Given the description of an element on the screen output the (x, y) to click on. 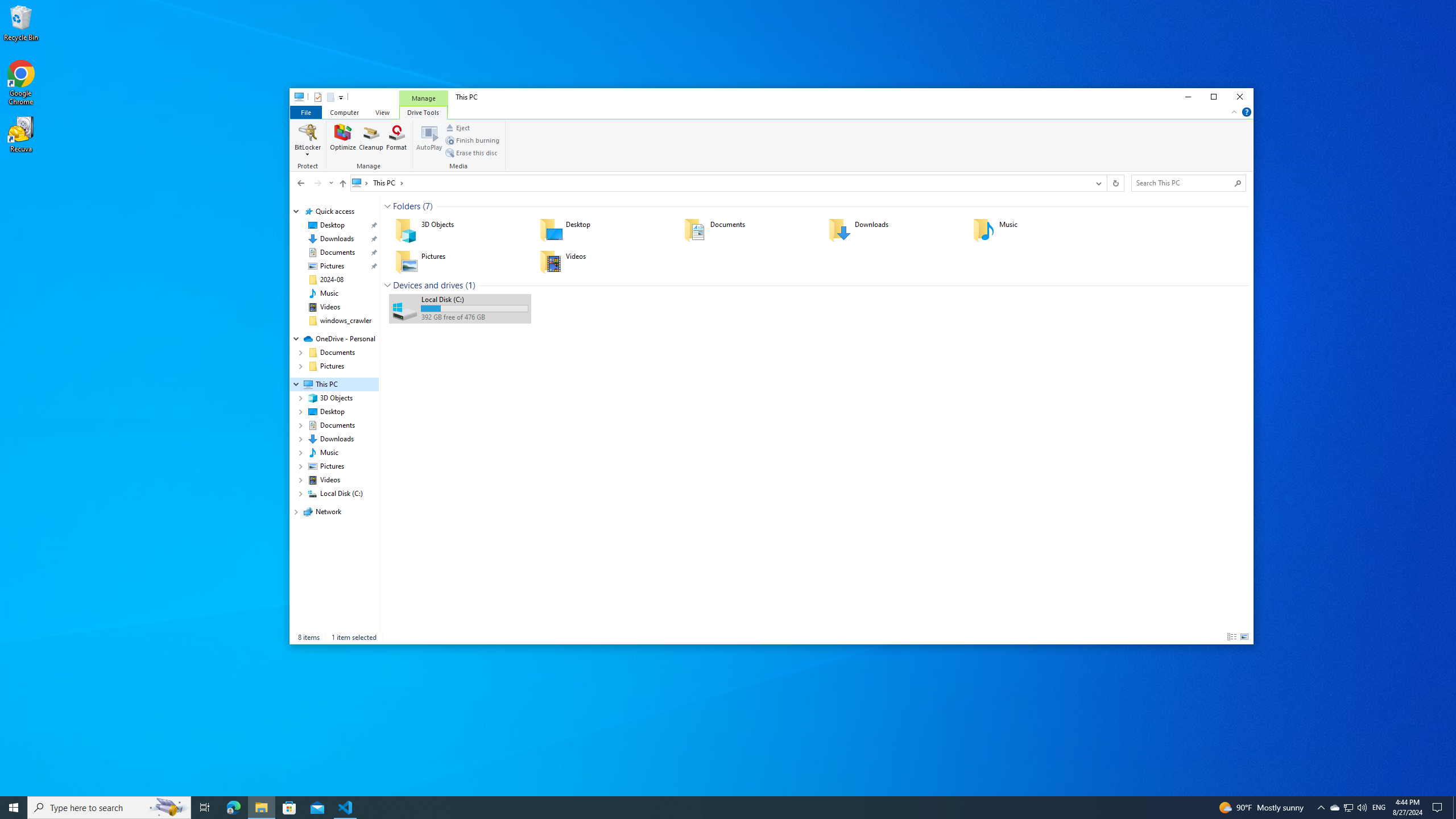
AutoPlay (429, 140)
Eject (457, 128)
Cleanup (371, 140)
All locations (360, 182)
Minimize the Ribbon (1233, 111)
Protect (309, 145)
Drive Tools (422, 111)
Desktop (pinned) (332, 224)
